Given the description of an element on the screen output the (x, y) to click on. 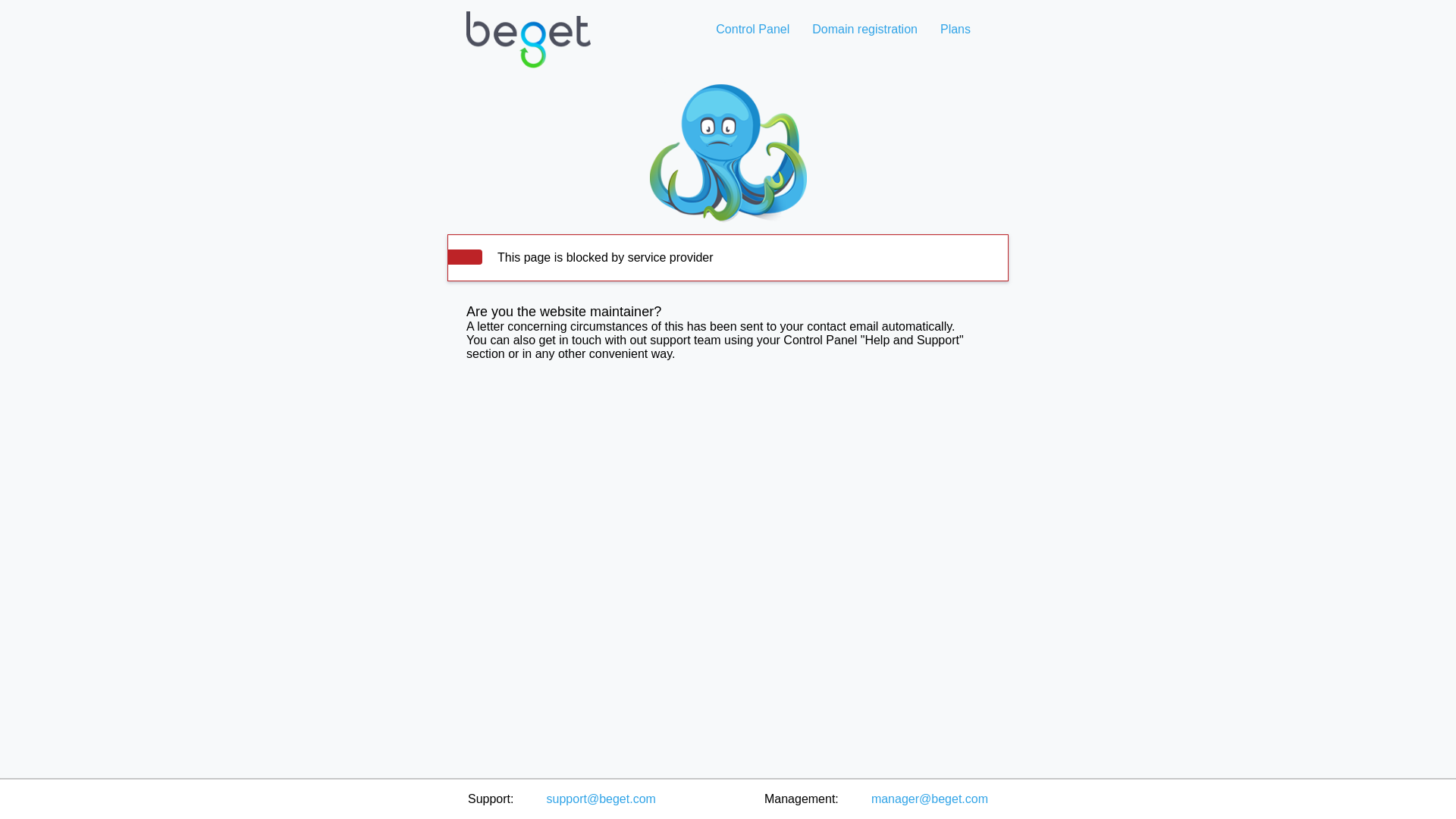
Plans (954, 29)
Web hosting home page (528, 51)
Control Panel (752, 29)
Domain registration (864, 29)
